Given the description of an element on the screen output the (x, y) to click on. 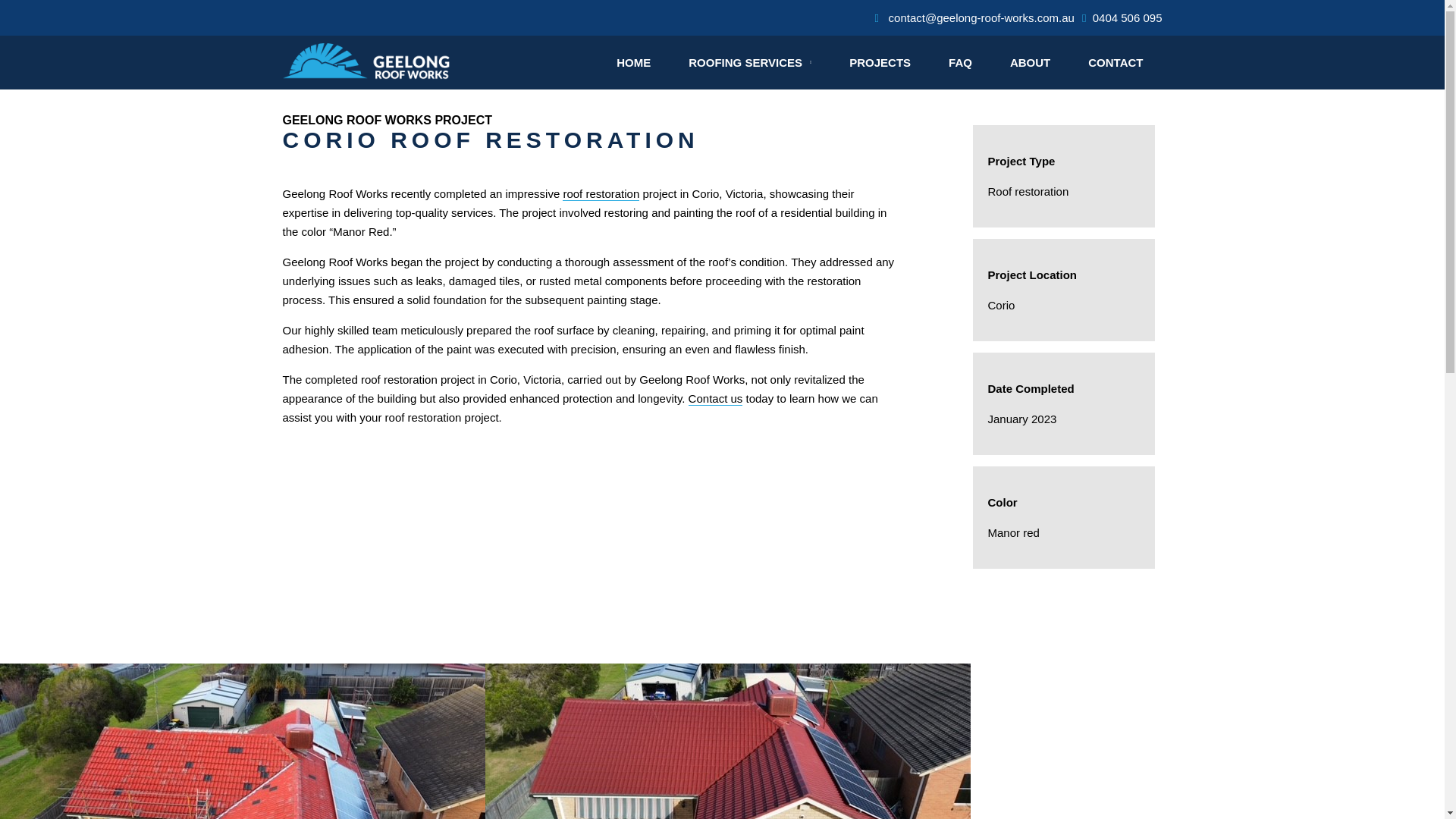
FAQ (959, 62)
 0404 506 095 (1121, 17)
roof restoration (600, 193)
Contact us (715, 398)
HOME (633, 62)
CONTACT (1115, 62)
PROJECTS (879, 62)
ABOUT (1030, 62)
ROOFING SERVICES (749, 62)
